Given the description of an element on the screen output the (x, y) to click on. 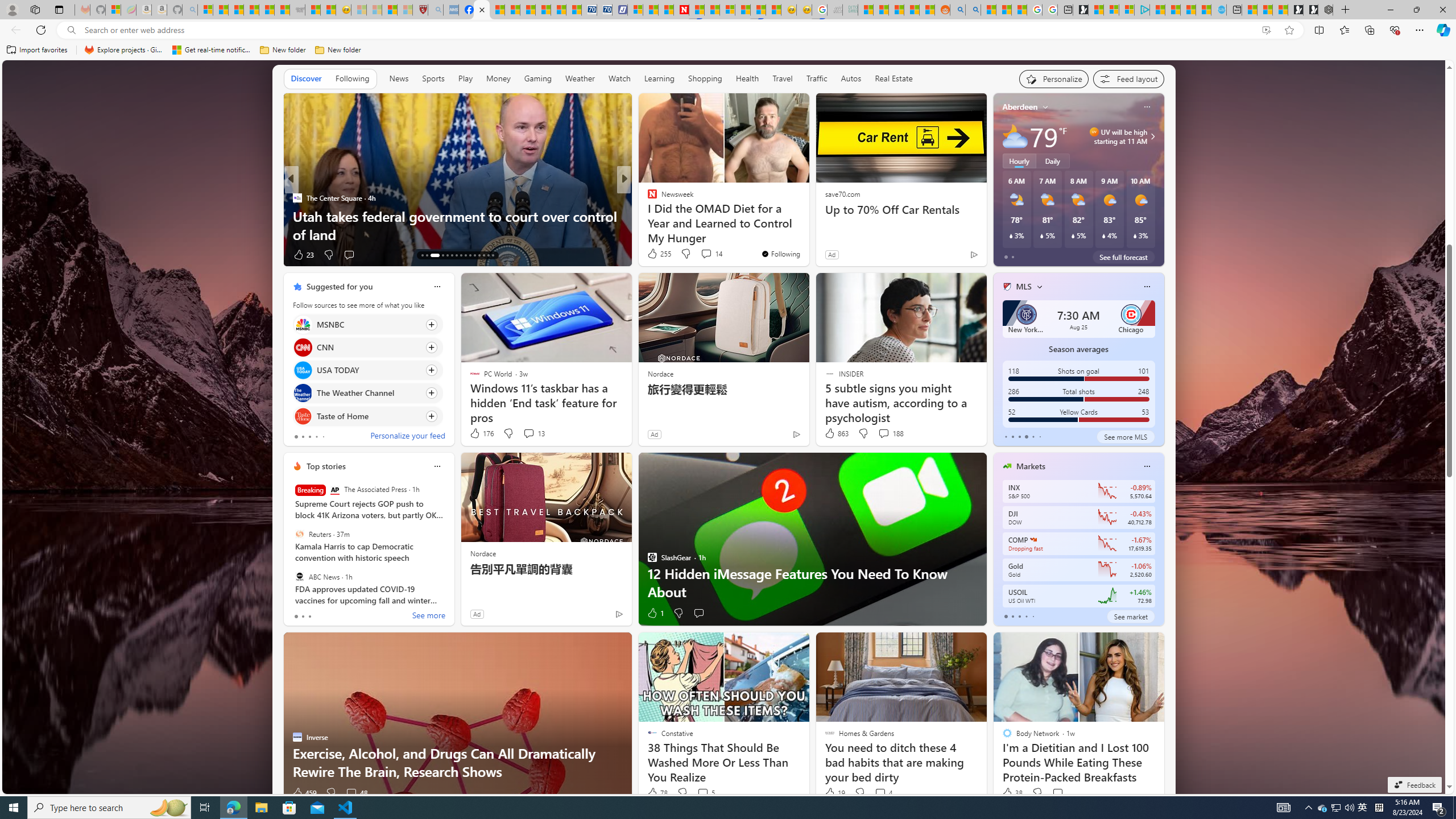
10 hidden Windows 11 features you wish you knew earlier (807, 225)
AutomationID: tab-73 (460, 255)
Southern Living (647, 197)
View comments 114 Comment (703, 254)
View comments 23 Comment (703, 254)
Personalize your feed (407, 436)
AutomationID: tab-71 (451, 255)
View comments 13 Comment (533, 433)
